Given the description of an element on the screen output the (x, y) to click on. 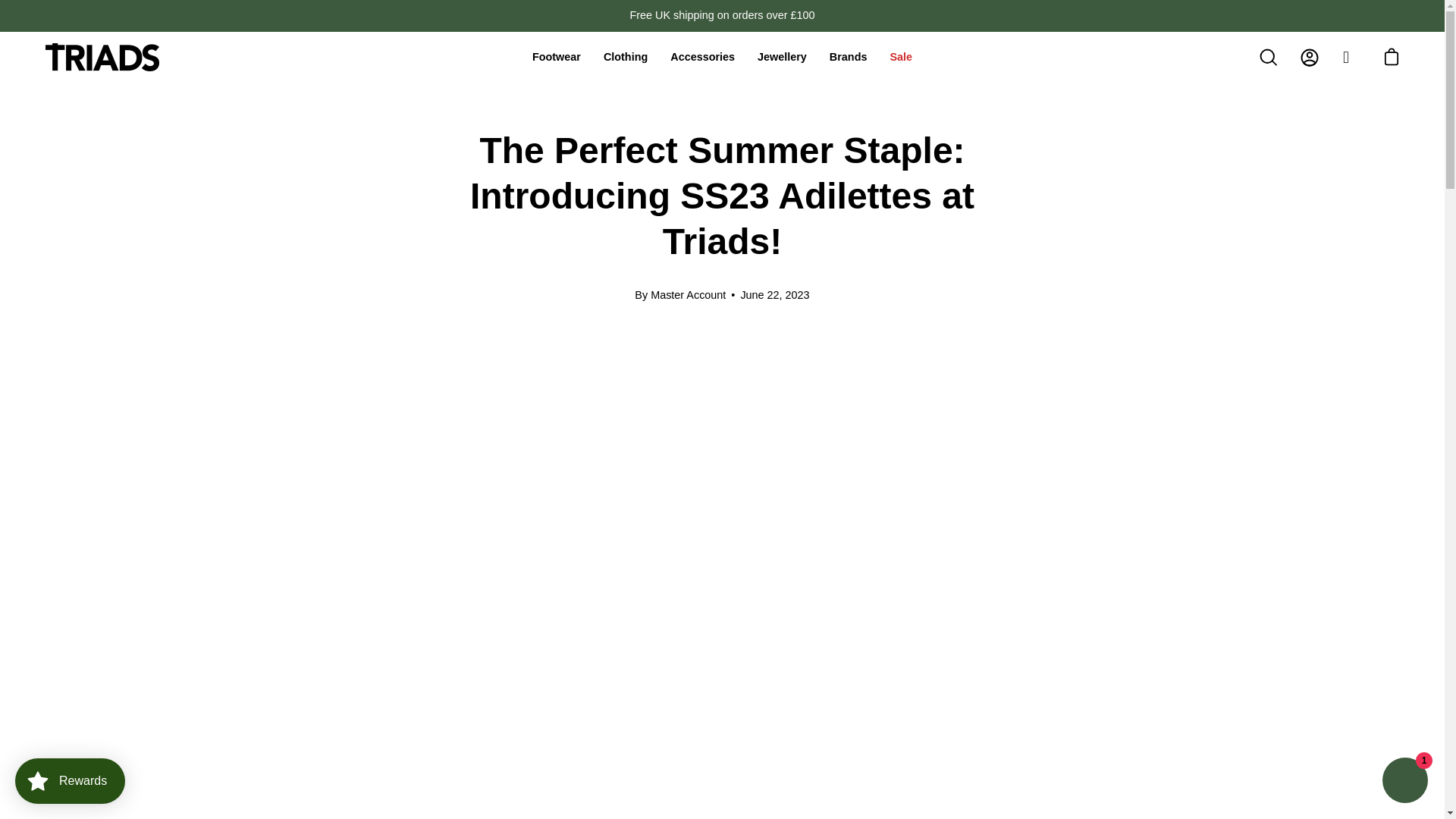
Shopify online store chat (1404, 781)
